Given the description of an element on the screen output the (x, y) to click on. 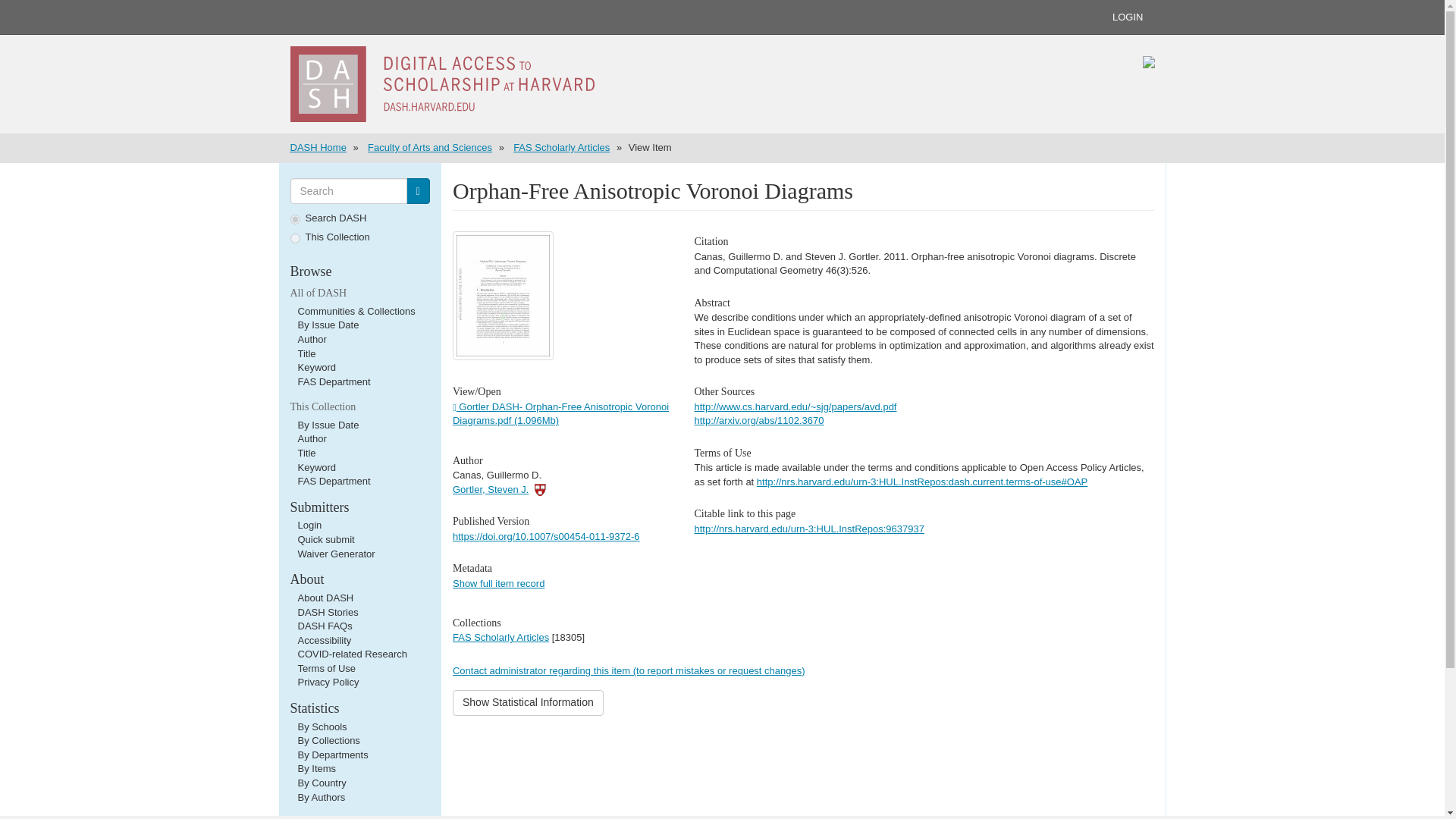
FAS Department (333, 480)
FAS Department (333, 381)
Keyword (316, 467)
HARVARD AFFILIATED (540, 489)
Faculty of Arts and Sciences (430, 147)
LOGIN (1127, 17)
Go (417, 190)
Author (311, 438)
Quick submit (325, 539)
Title (306, 353)
DASH Home (317, 147)
By Issue Date (327, 324)
Title (306, 452)
FAS Scholarly Articles (561, 147)
Login (309, 524)
